Given the description of an element on the screen output the (x, y) to click on. 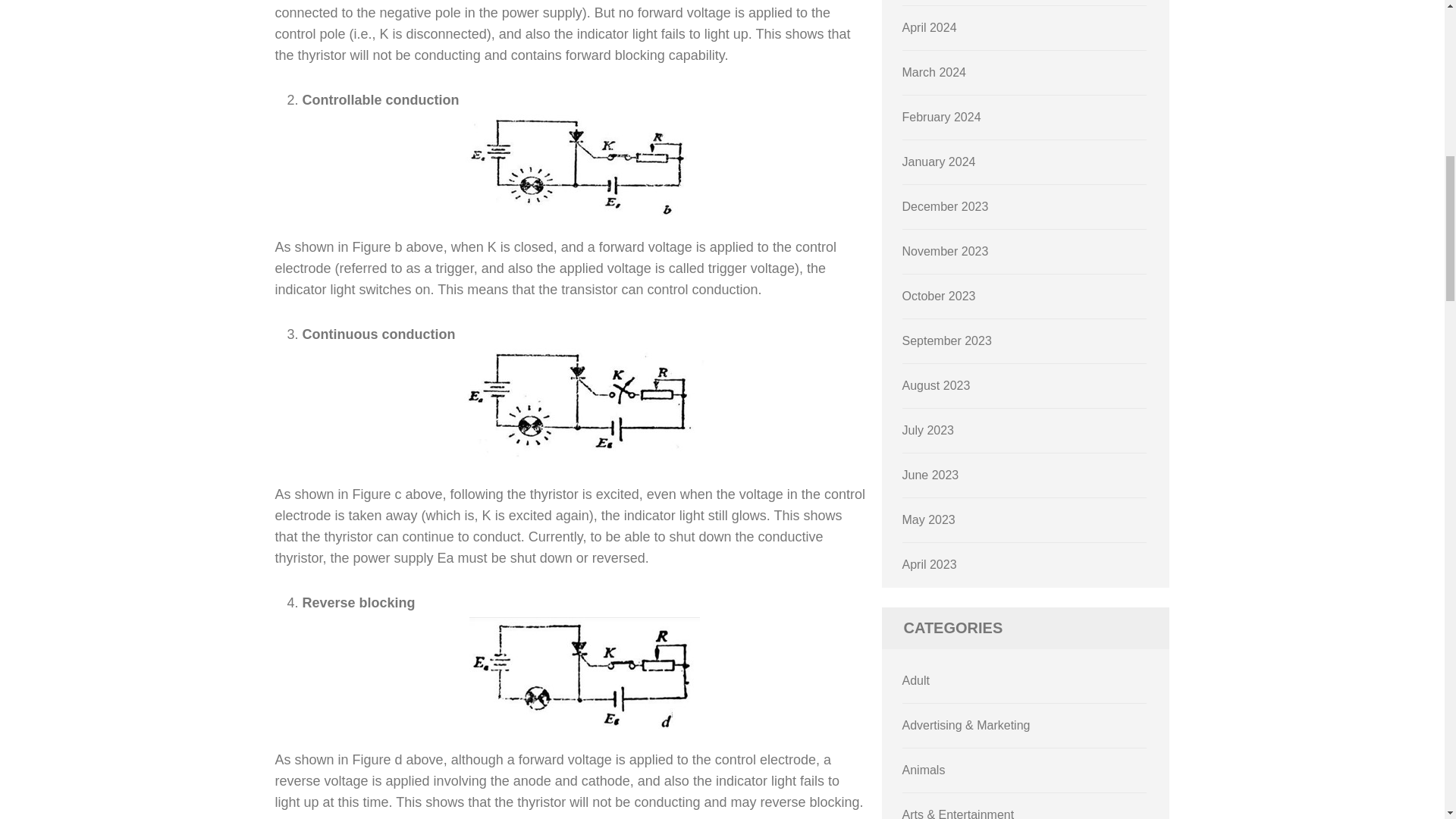
June 2023 (930, 474)
September 2023 (946, 340)
August 2023 (936, 385)
July 2023 (928, 430)
Animals (923, 769)
February 2024 (941, 116)
Adult (916, 680)
November 2023 (945, 250)
January 2024 (938, 161)
March 2024 (934, 72)
December 2023 (945, 205)
April 2023 (929, 563)
April 2024 (929, 27)
May 2023 (928, 519)
October 2023 (938, 295)
